Given the description of an element on the screen output the (x, y) to click on. 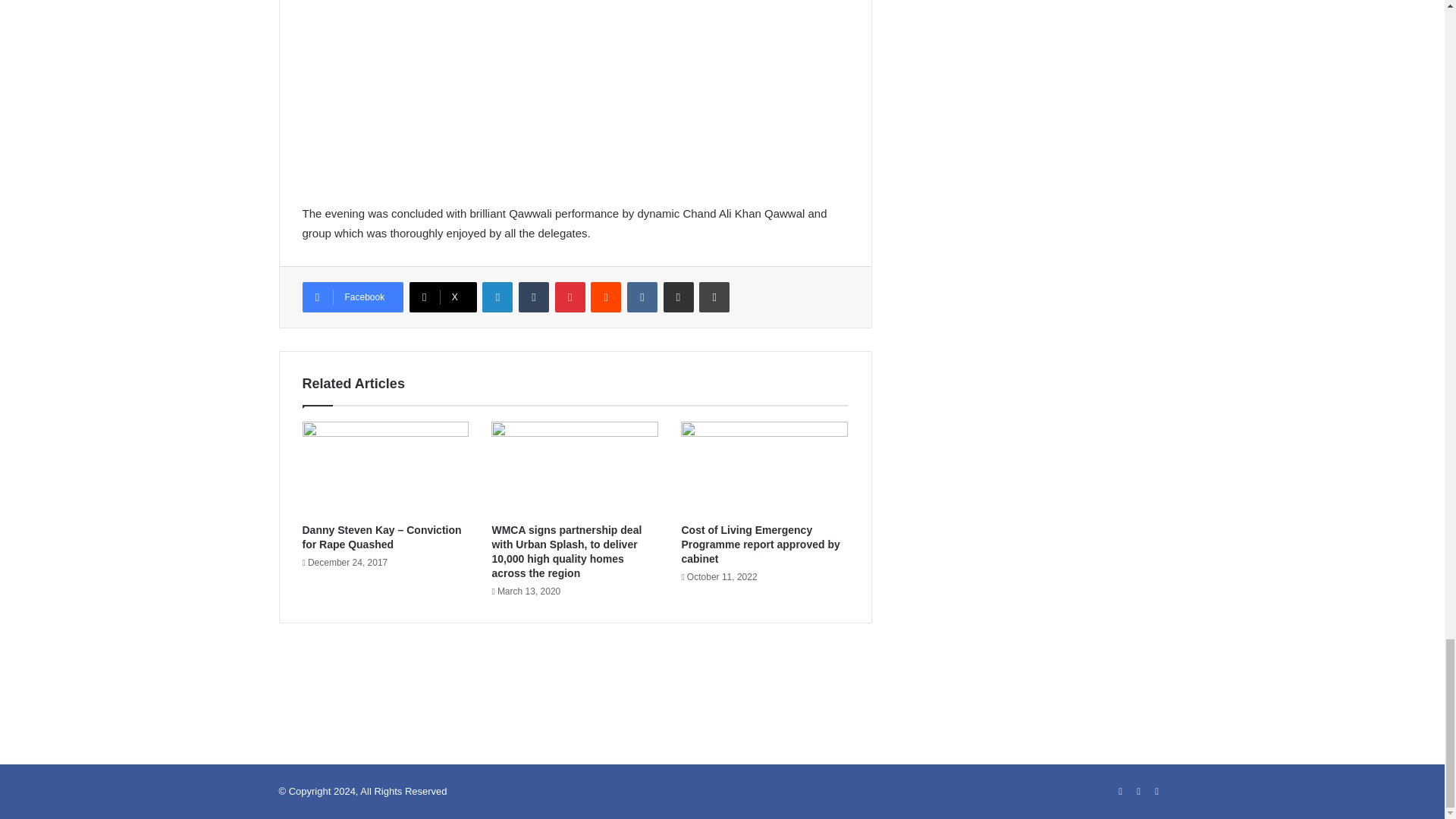
Pinterest (569, 296)
Print (713, 296)
Facebook (352, 296)
LinkedIn (496, 296)
VKontakte (642, 296)
Facebook (352, 296)
X (443, 296)
LinkedIn (496, 296)
Reddit (606, 296)
Tumblr (533, 296)
